Given the description of an element on the screen output the (x, y) to click on. 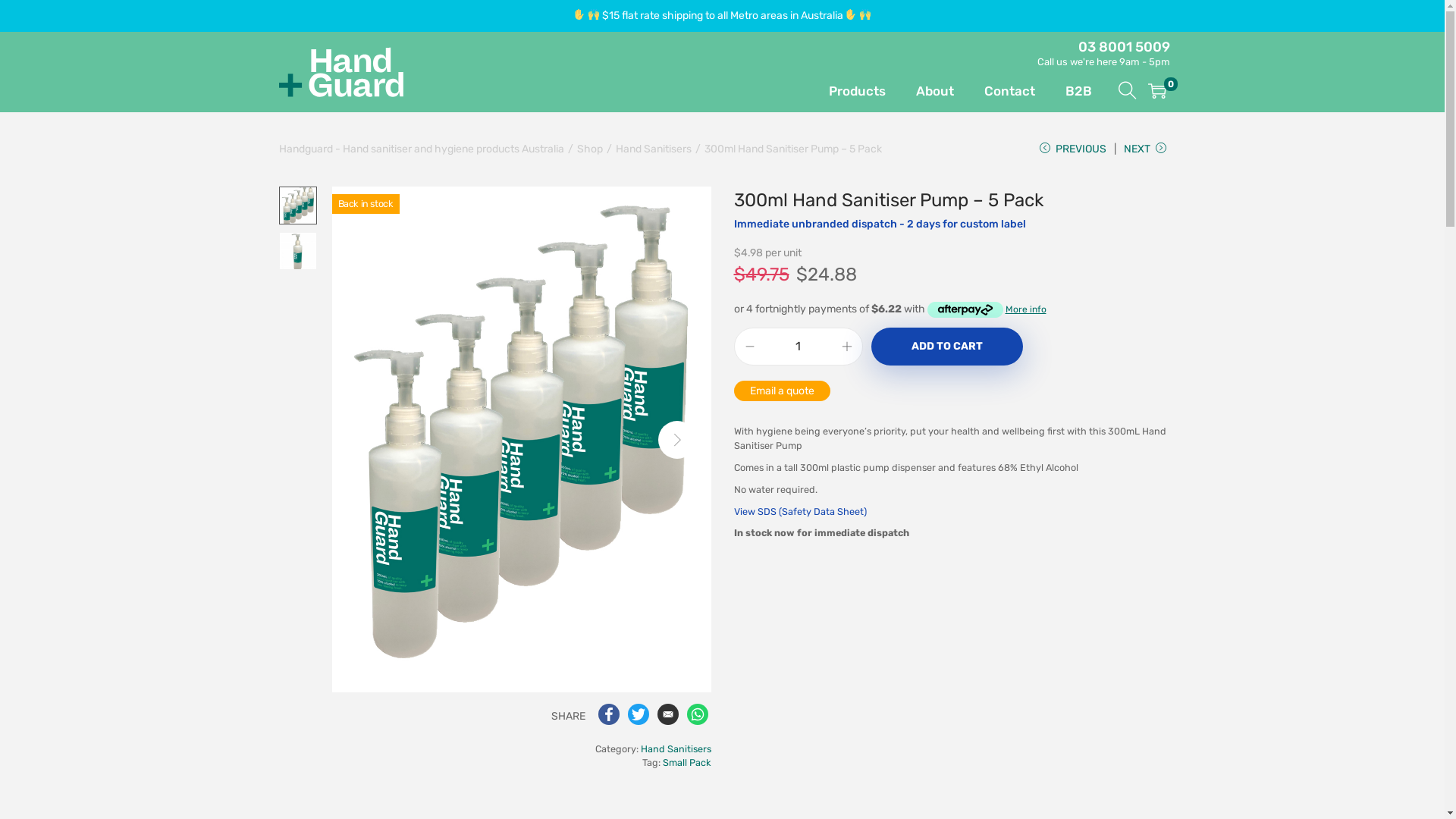
next Element type: text (677, 439)
Hand Sanitisers Element type: text (653, 148)
Skip to navigation Element type: text (279, 71)
Email a quote Element type: text (782, 390)
More info Element type: text (985, 308)
Qty Element type: hover (797, 346)
Products Element type: text (856, 71)
Hand Sanitisers Element type: text (675, 748)
View SDS (Safety Data Sheet) Element type: text (800, 511)
NEXT Element type: text (1144, 154)
Contact Element type: text (1009, 71)
PREVIOUS Element type: text (1071, 154)
ADD TO CART Element type: text (946, 346)
Handguard - Hand sanitiser and hygiene products Australia Element type: text (341, 72)
Handguard - Hand sanitiser and hygiene products Australia Element type: text (421, 148)
03 8001 5009 Element type: text (1124, 46)
0 Element type: text (1157, 90)
Shop Element type: text (589, 148)
Small Pack Element type: text (686, 762)
B2B Element type: text (1077, 71)
Search Element type: text (950, 428)
About Element type: text (934, 71)
